Given the description of an element on the screen output the (x, y) to click on. 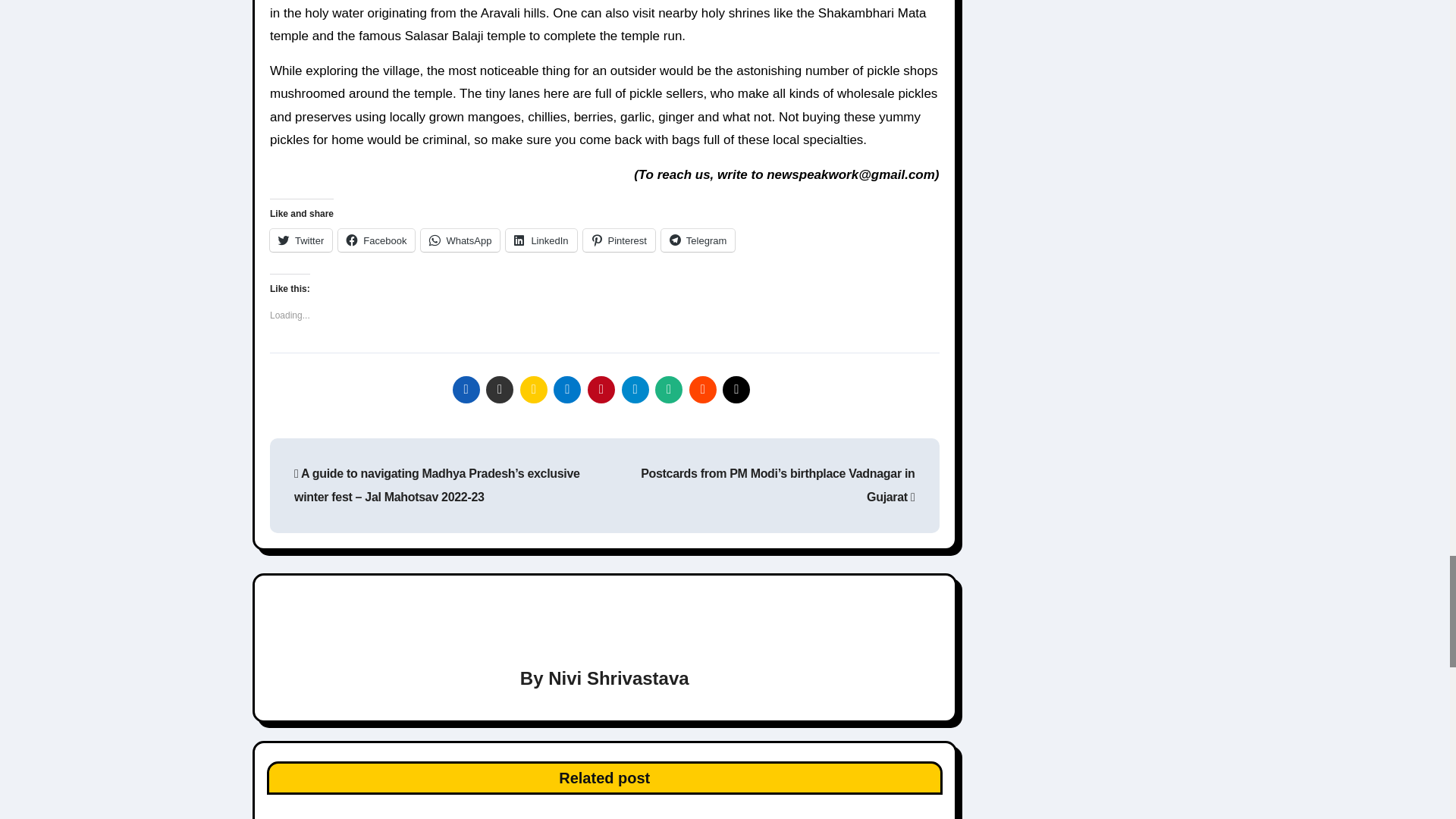
Click to share on Facebook (375, 240)
Click to share on WhatsApp (459, 240)
Click to share on Twitter (300, 240)
